Given the description of an element on the screen output the (x, y) to click on. 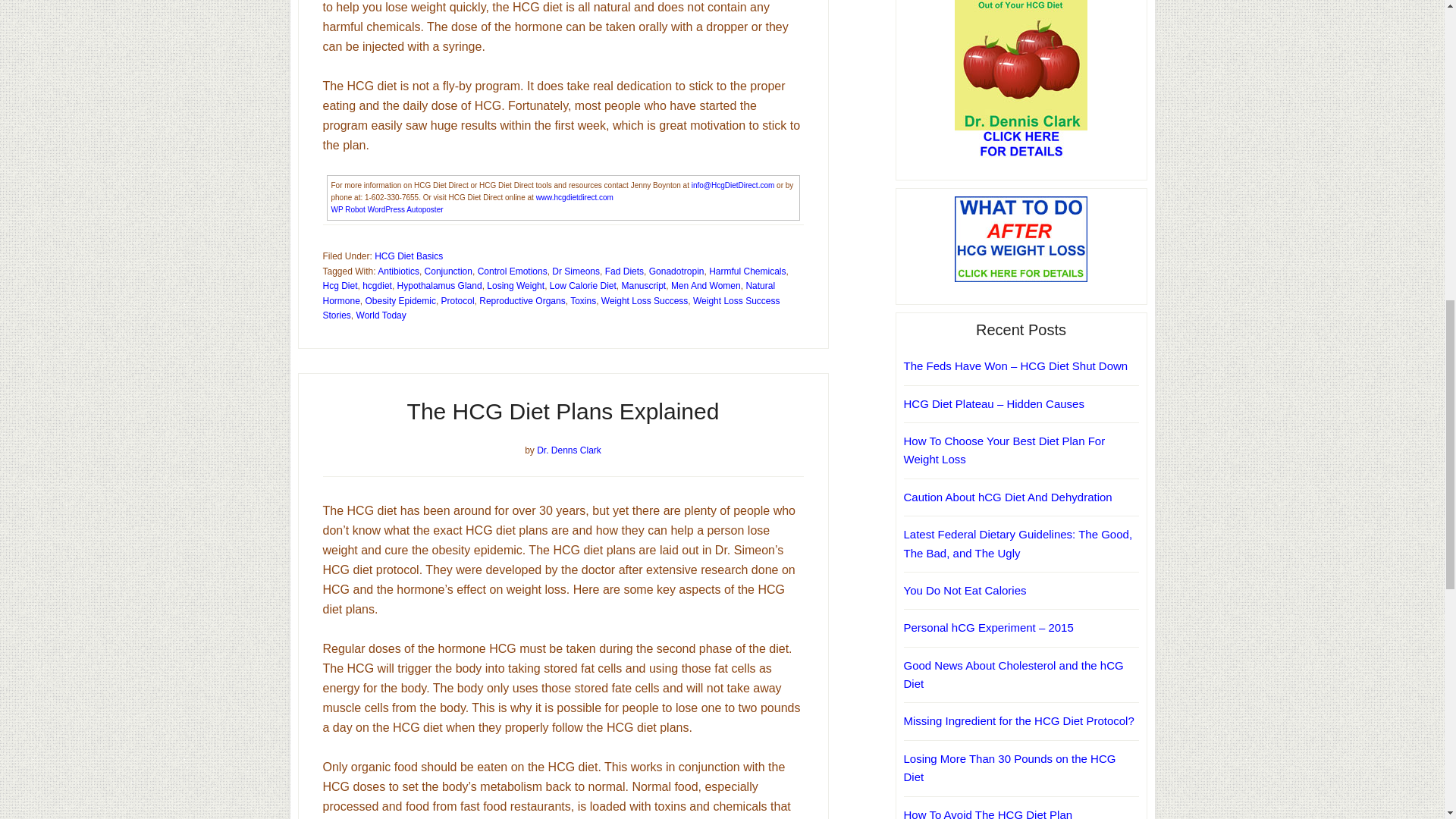
The HCG Diet Plans Explained (563, 411)
after-hcg-weight-loss-1 (1021, 238)
hcgdiet (376, 285)
Losing Weight (515, 285)
WP Robot WordPress Autoposter (386, 209)
Men And Women (706, 285)
Obesity Epidemic (400, 300)
Reproductive Organs (521, 300)
Natural Hormone (549, 293)
Protocol (457, 300)
Manuscript (643, 285)
Dr Simeons (575, 271)
Weight Loss Success (644, 300)
Control Emotions (512, 271)
World Today (381, 315)
